Given the description of an element on the screen output the (x, y) to click on. 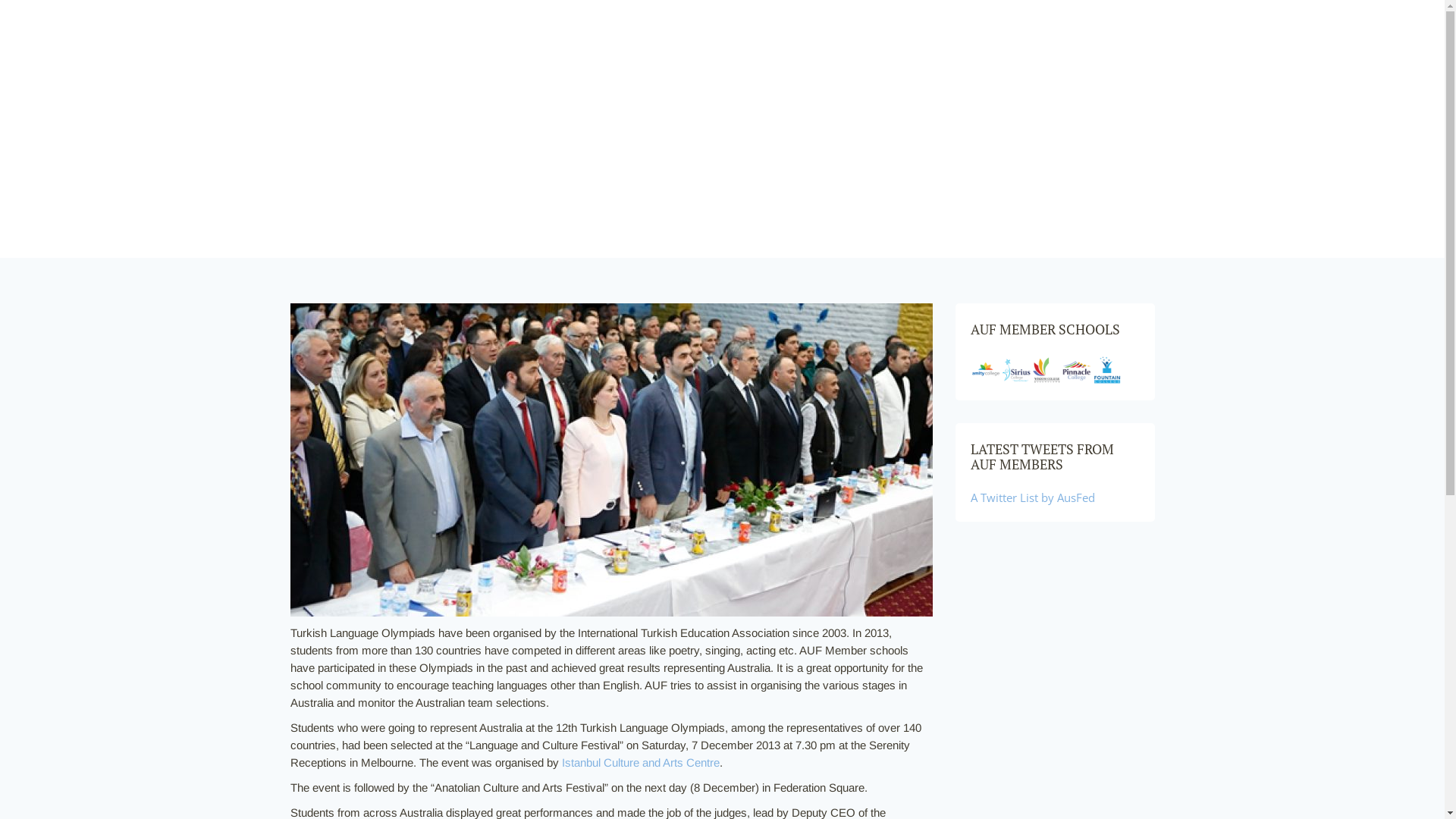
Istanbul Culture and Arts Centre Element type: text (639, 762)
A Twitter List by AusFed Element type: text (1032, 497)
